Given the description of an element on the screen output the (x, y) to click on. 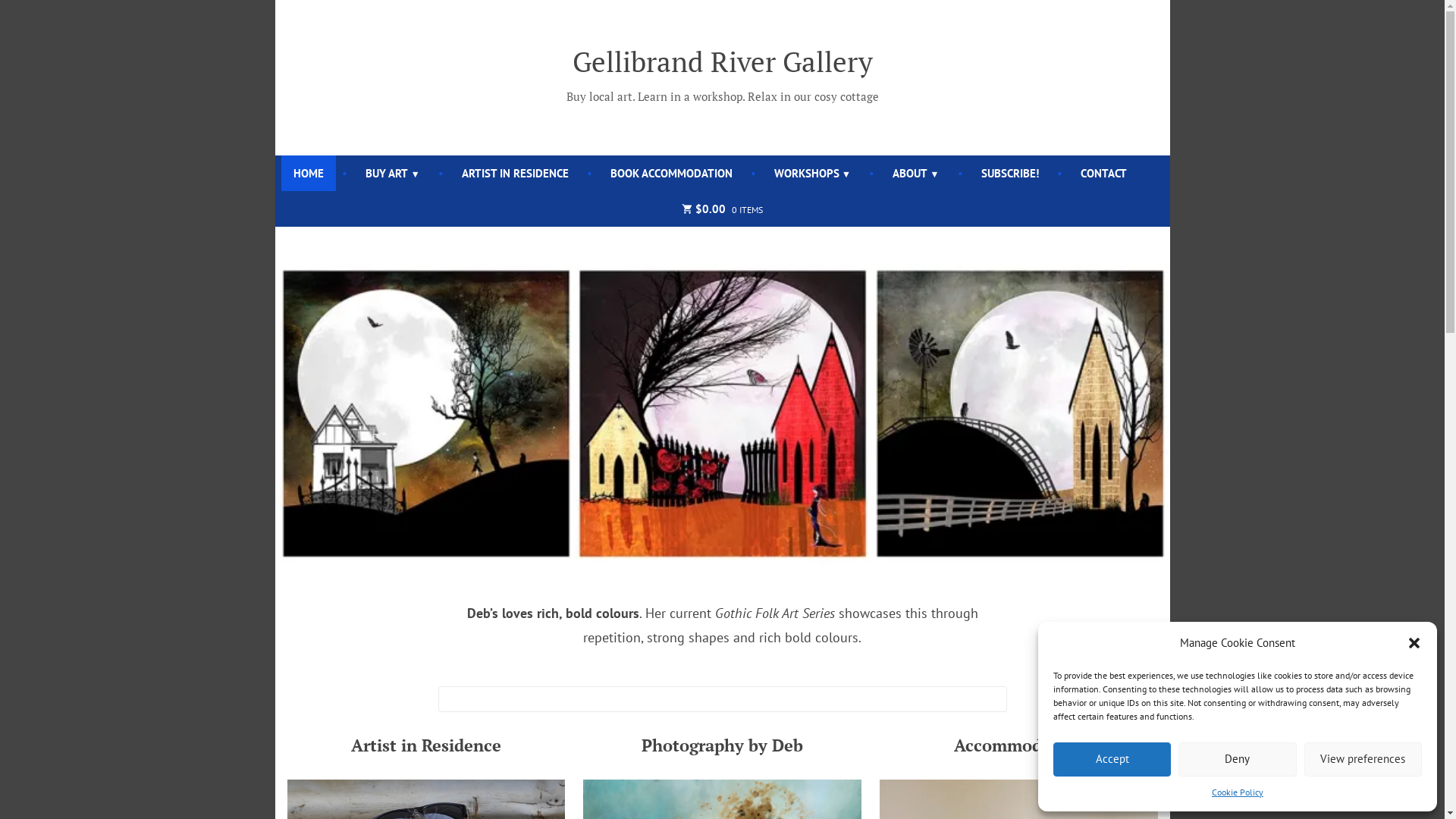
Deny Element type: text (1236, 759)
CONTACT Element type: text (1103, 173)
SUBSCRIBE! Element type: text (1010, 173)
Gellibrand River Gallery Element type: text (721, 61)
Accept Element type: text (1111, 759)
ABOUT Element type: text (915, 173)
$0.00 0 ITEMS Element type: text (721, 208)
ARTIST IN RESIDENCE Element type: text (514, 173)
Cookie Policy Element type: text (1237, 792)
HOME Element type: text (308, 173)
BOOK ACCOMMODATION Element type: text (671, 173)
WORKSHOPS Element type: text (812, 173)
BUY ART Element type: text (392, 173)
View preferences Element type: text (1362, 759)
